Given the description of an element on the screen output the (x, y) to click on. 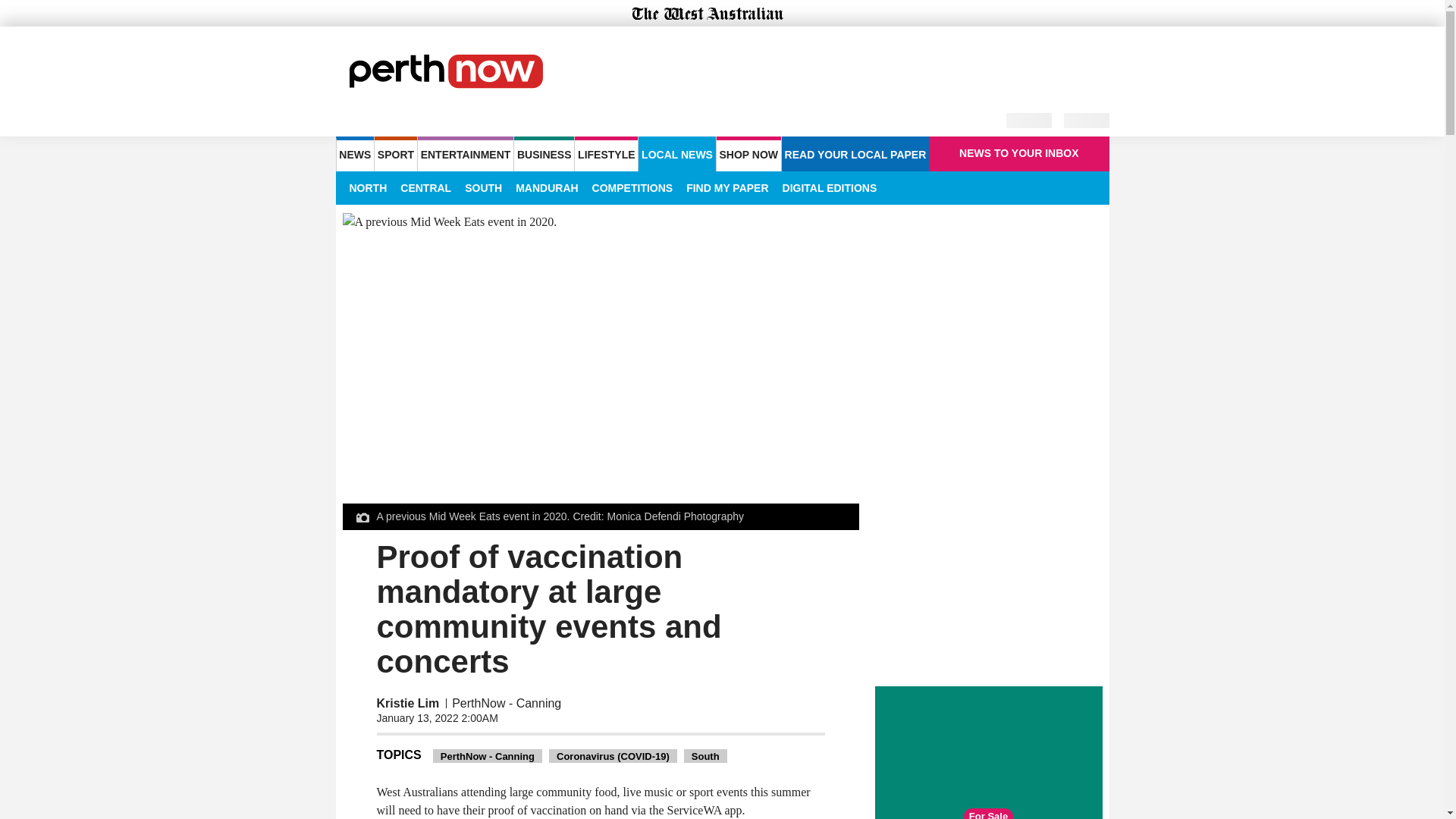
ENTERTAINMENT (465, 153)
BUSINESS (543, 153)
NEWS (354, 153)
SPORT (395, 153)
